Given the description of an element on the screen output the (x, y) to click on. 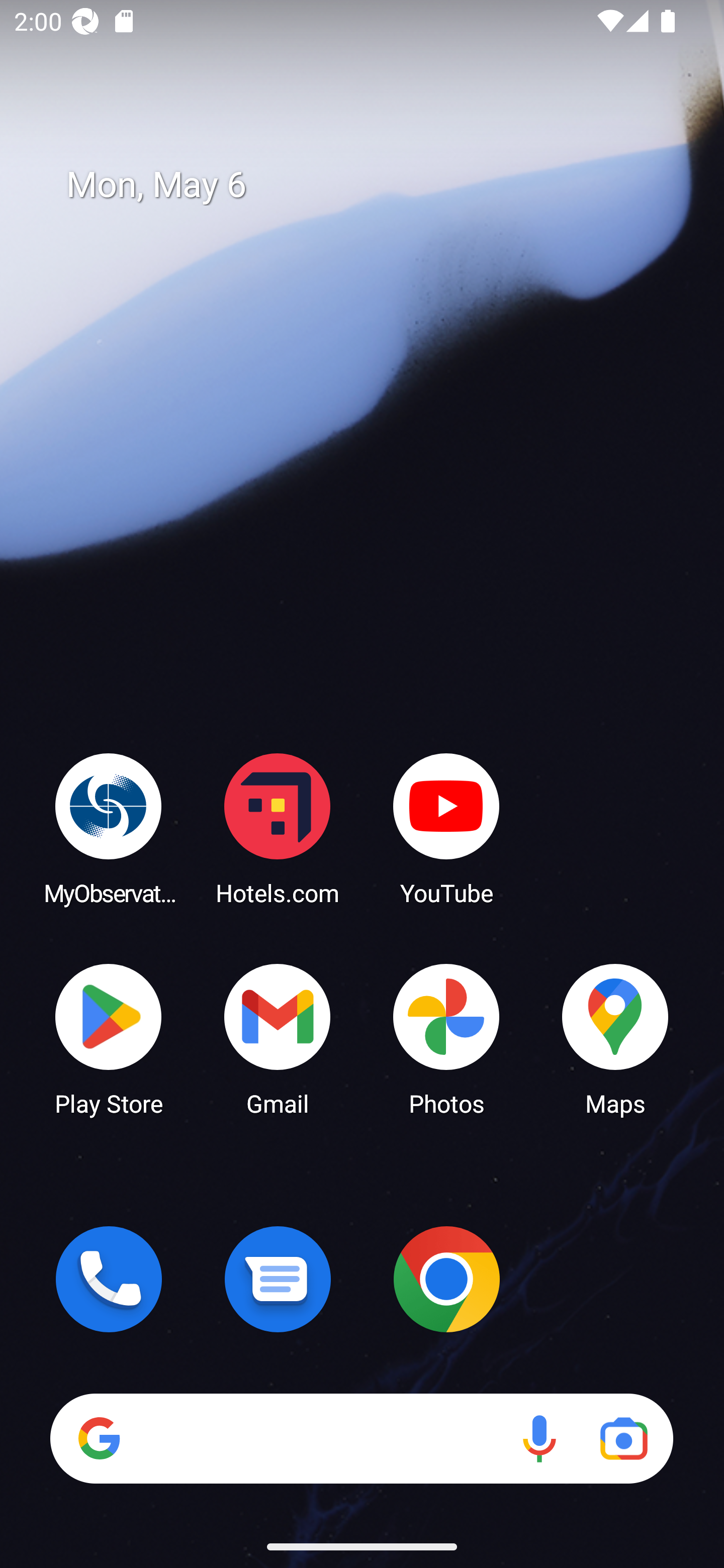
Mon, May 6 (375, 184)
MyObservatory (108, 828)
Hotels.com (277, 828)
YouTube (445, 828)
Play Store (108, 1038)
Gmail (277, 1038)
Photos (445, 1038)
Maps (615, 1038)
Phone (108, 1279)
Messages (277, 1279)
Chrome (446, 1279)
Search Voice search Google Lens (361, 1438)
Voice search (539, 1438)
Google Lens (623, 1438)
